Given the description of an element on the screen output the (x, y) to click on. 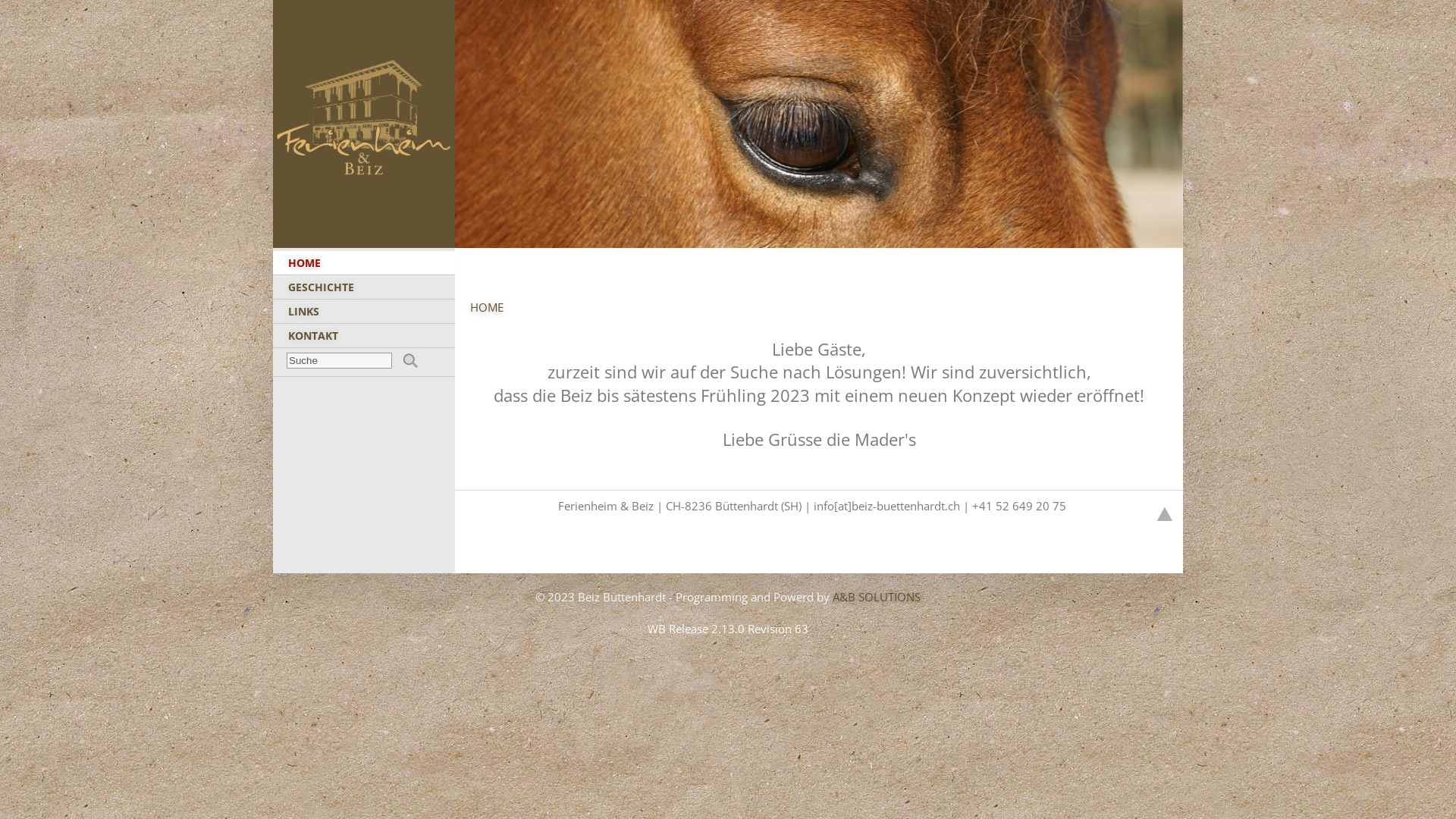
HOME Element type: text (486, 305)
KONTAKT Element type: text (364, 335)
LINKS Element type: text (364, 311)
HOME Element type: text (364, 263)
GESCHICHTE Element type: text (364, 287)
Go to top Element type: hover (1164, 514)
A&B SOLUTIONS Element type: text (876, 596)
